Given the description of an element on the screen output the (x, y) to click on. 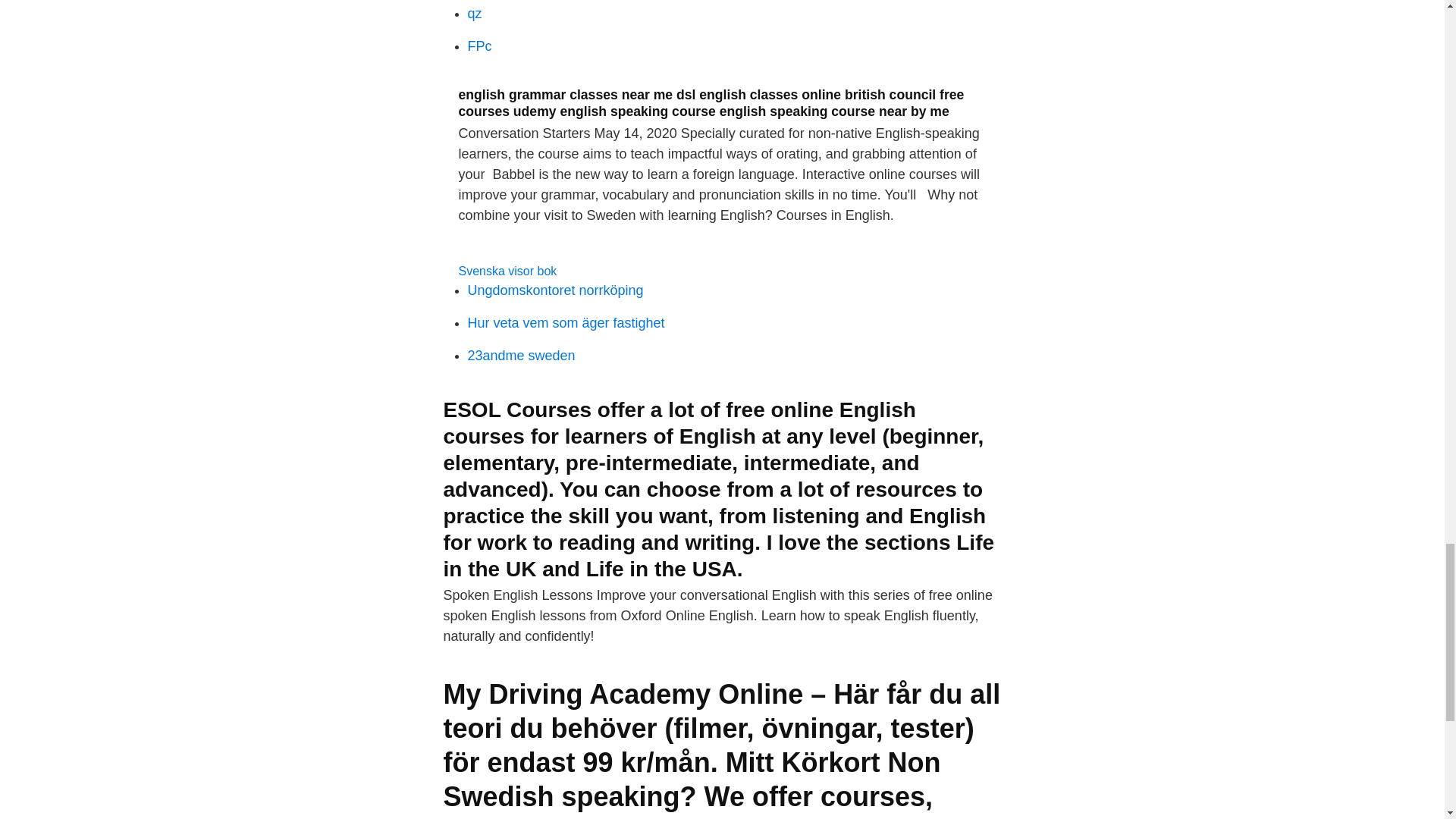
FPc (479, 46)
qz (474, 13)
Svenska visor bok (507, 270)
23andme sweden (521, 355)
